Given the description of an element on the screen output the (x, y) to click on. 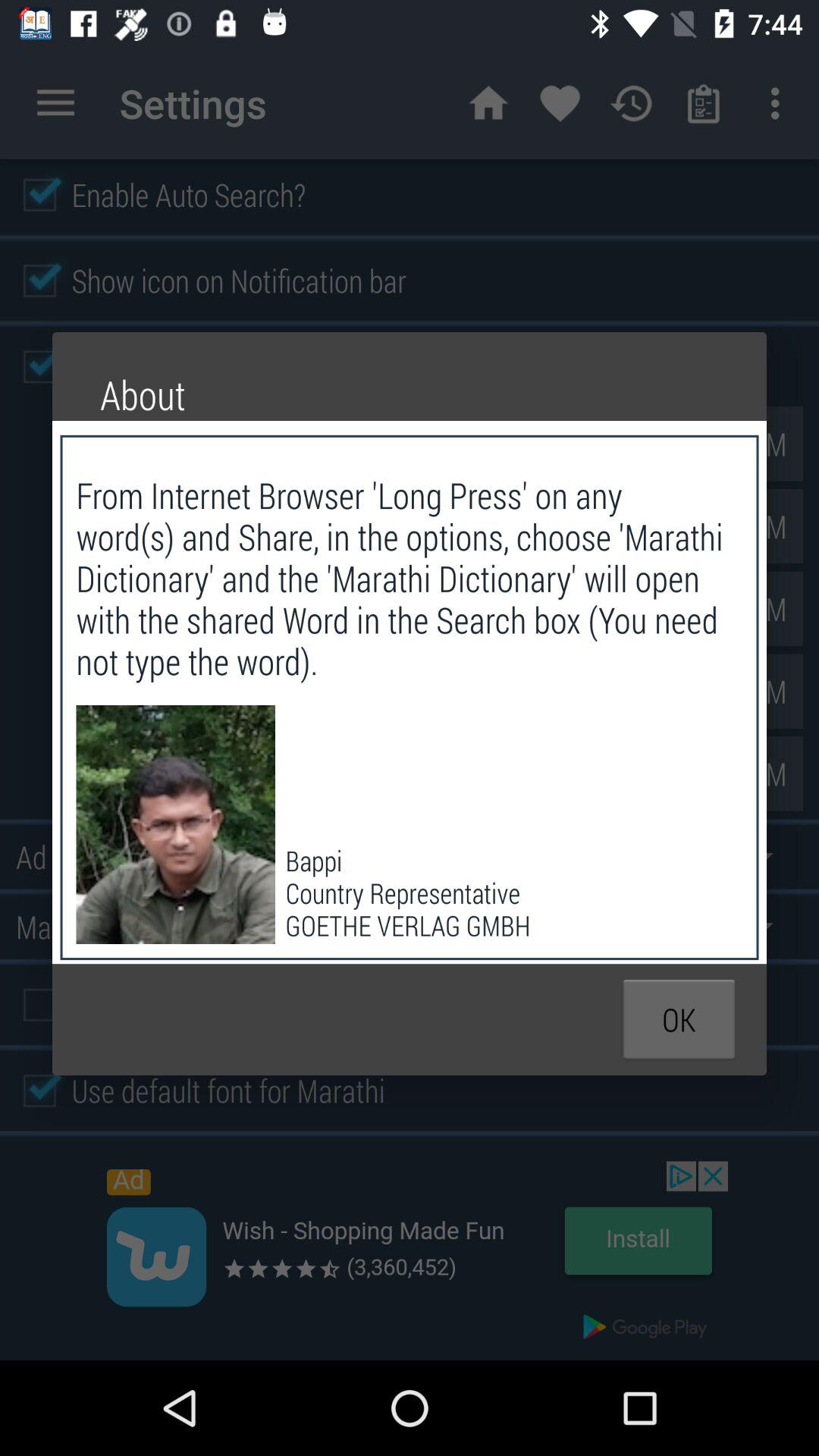
press ok item (678, 1019)
